Given the description of an element on the screen output the (x, y) to click on. 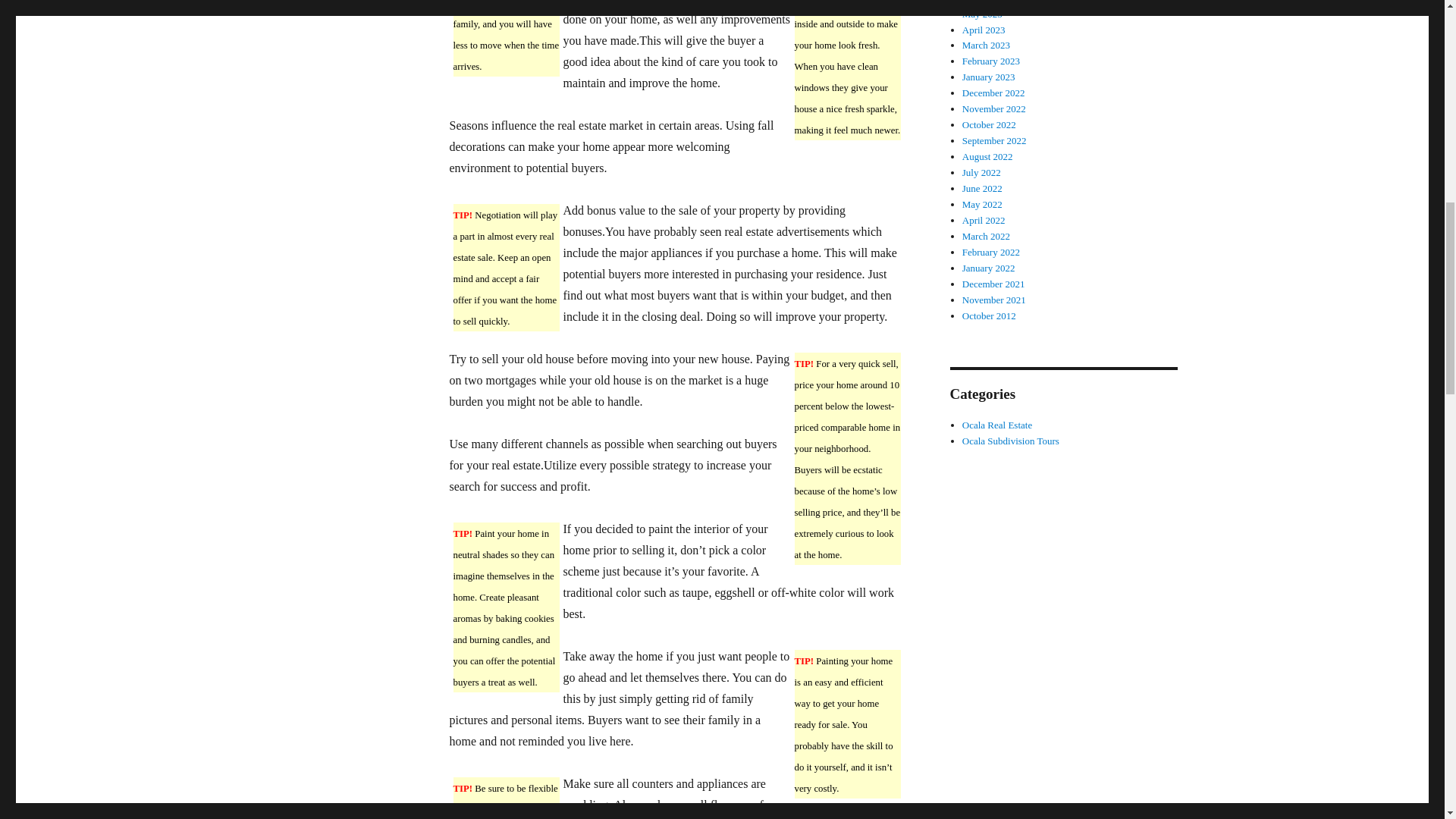
July 2022 (981, 172)
September 2022 (994, 140)
April 2022 (984, 220)
October 2022 (989, 124)
May 2022 (982, 204)
March 2022 (986, 235)
June 2023 (982, 2)
December 2022 (993, 92)
November 2022 (994, 108)
March 2023 (986, 44)
